Given the description of an element on the screen output the (x, y) to click on. 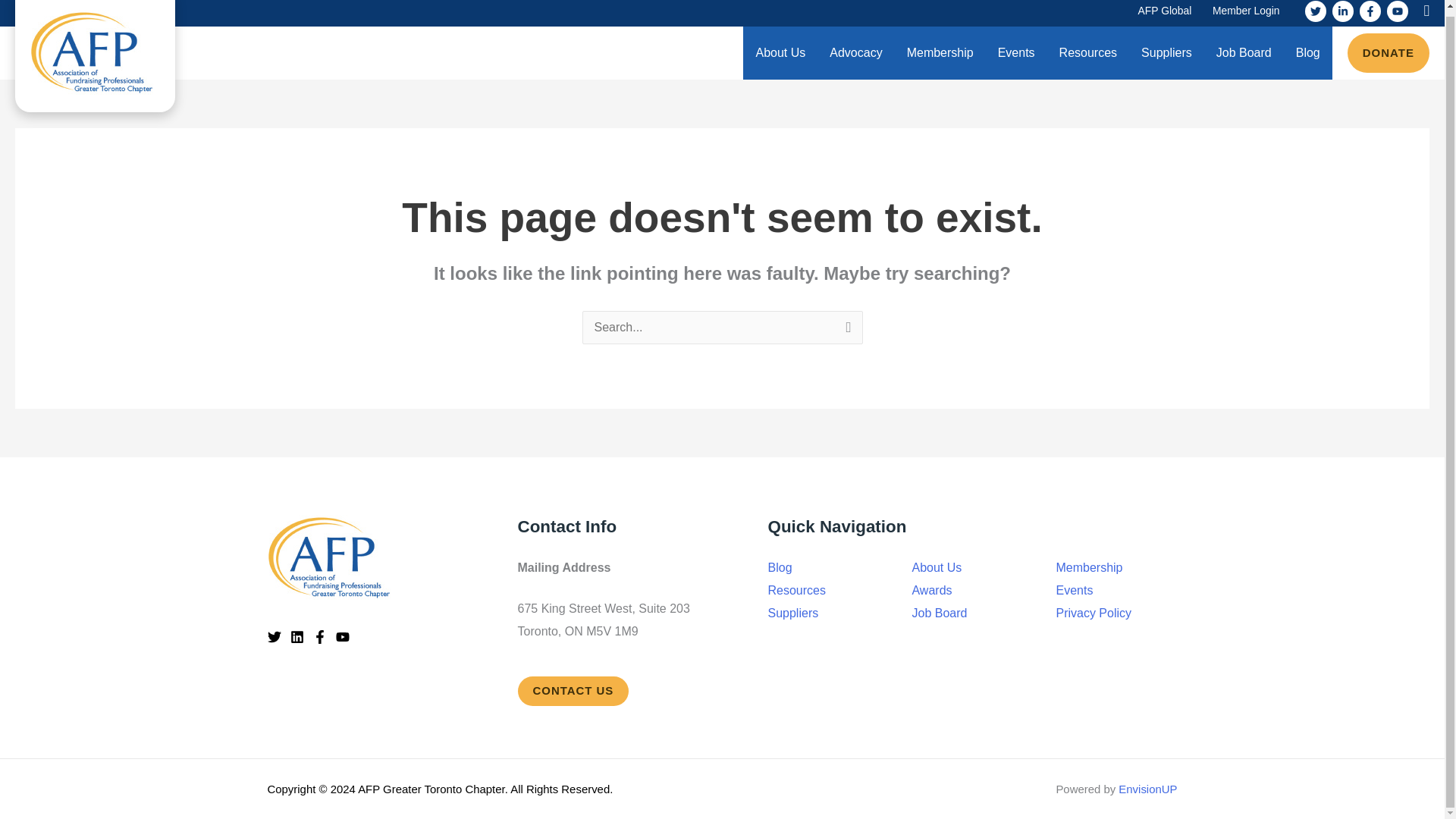
Advocacy (854, 52)
Member Login (1246, 13)
Membership (940, 52)
Job Board (1244, 52)
Suppliers (1166, 52)
Resources (1087, 52)
Events (1015, 52)
About Us (779, 52)
AFP Global (1164, 13)
